Given the description of an element on the screen output the (x, y) to click on. 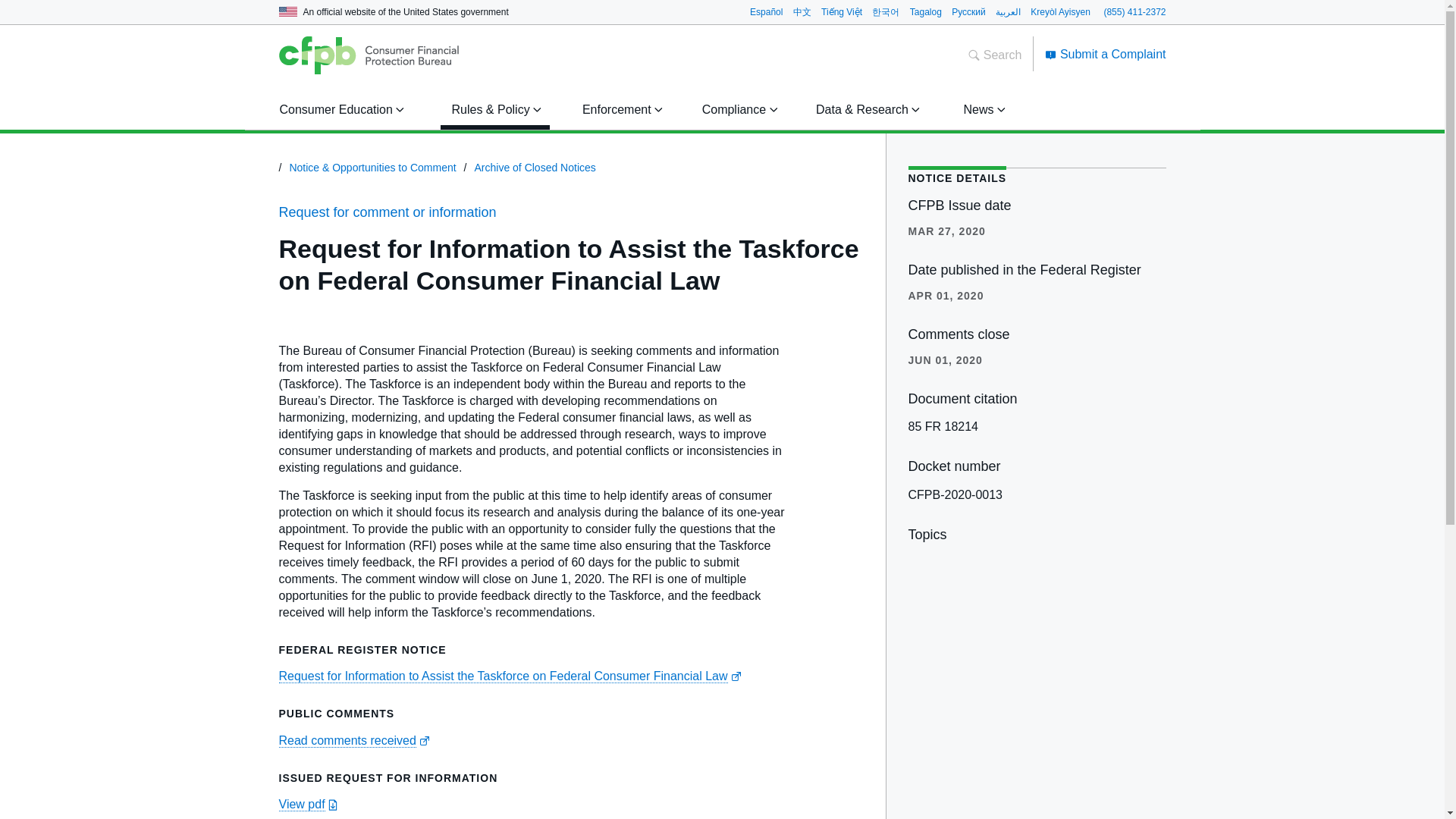
Consumer Education (339, 109)
Search (995, 54)
Submit a Complaint (1105, 52)
Tagalog (926, 10)
